Given the description of an element on the screen output the (x, y) to click on. 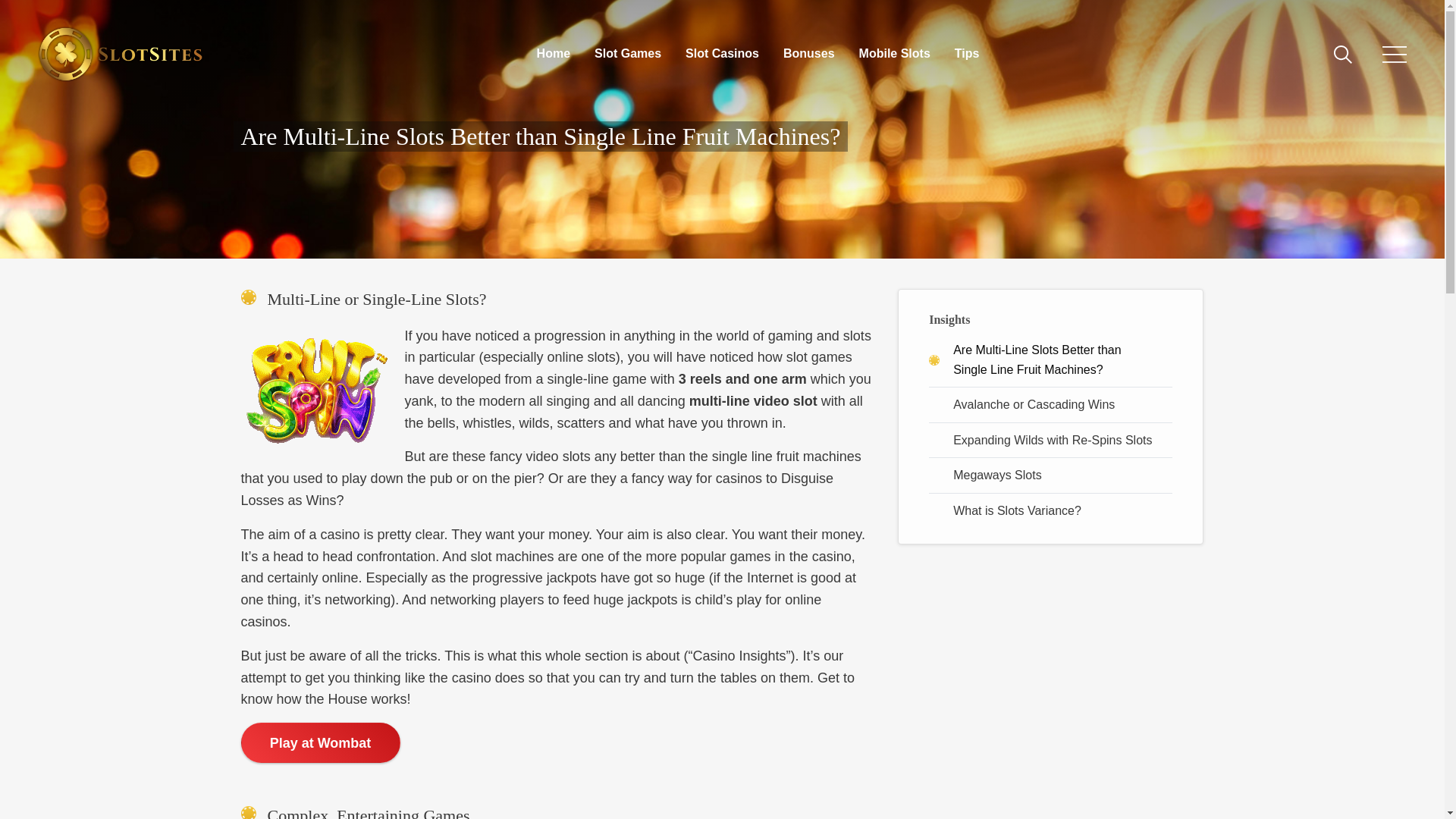
Mobile Slots (894, 54)
Go to the homepage (121, 53)
Bonuses (808, 54)
Slot Casinos (721, 54)
Home (553, 54)
Tips (967, 54)
Additional Menu (1393, 53)
Search (1330, 54)
Slot Games (627, 54)
